Given the description of an element on the screen output the (x, y) to click on. 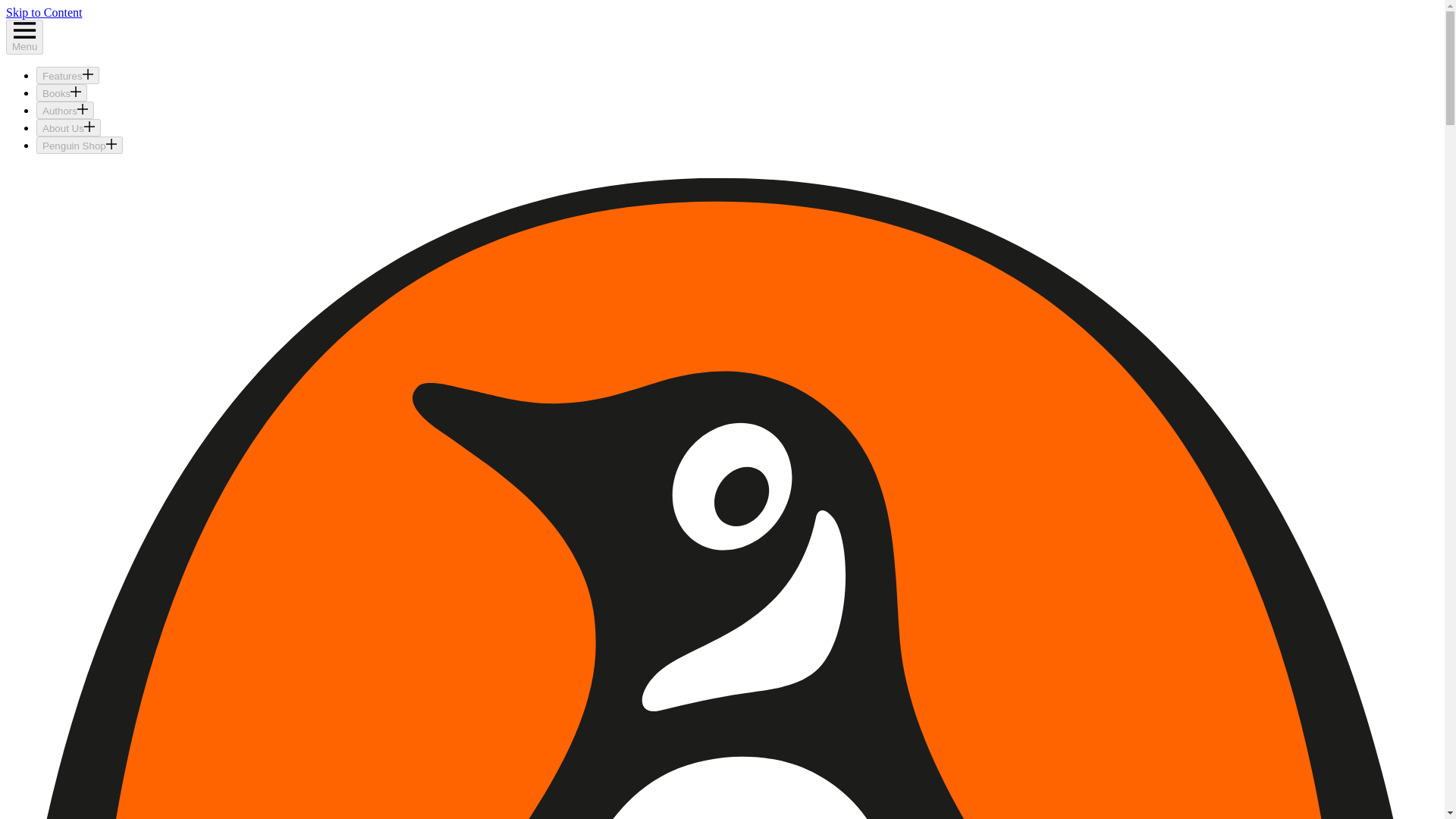
Books (61, 92)
Authors (65, 109)
Skip to Content (43, 11)
Penguin Shop (79, 144)
Features (67, 75)
Menu (24, 36)
About Us (68, 127)
